Given the description of an element on the screen output the (x, y) to click on. 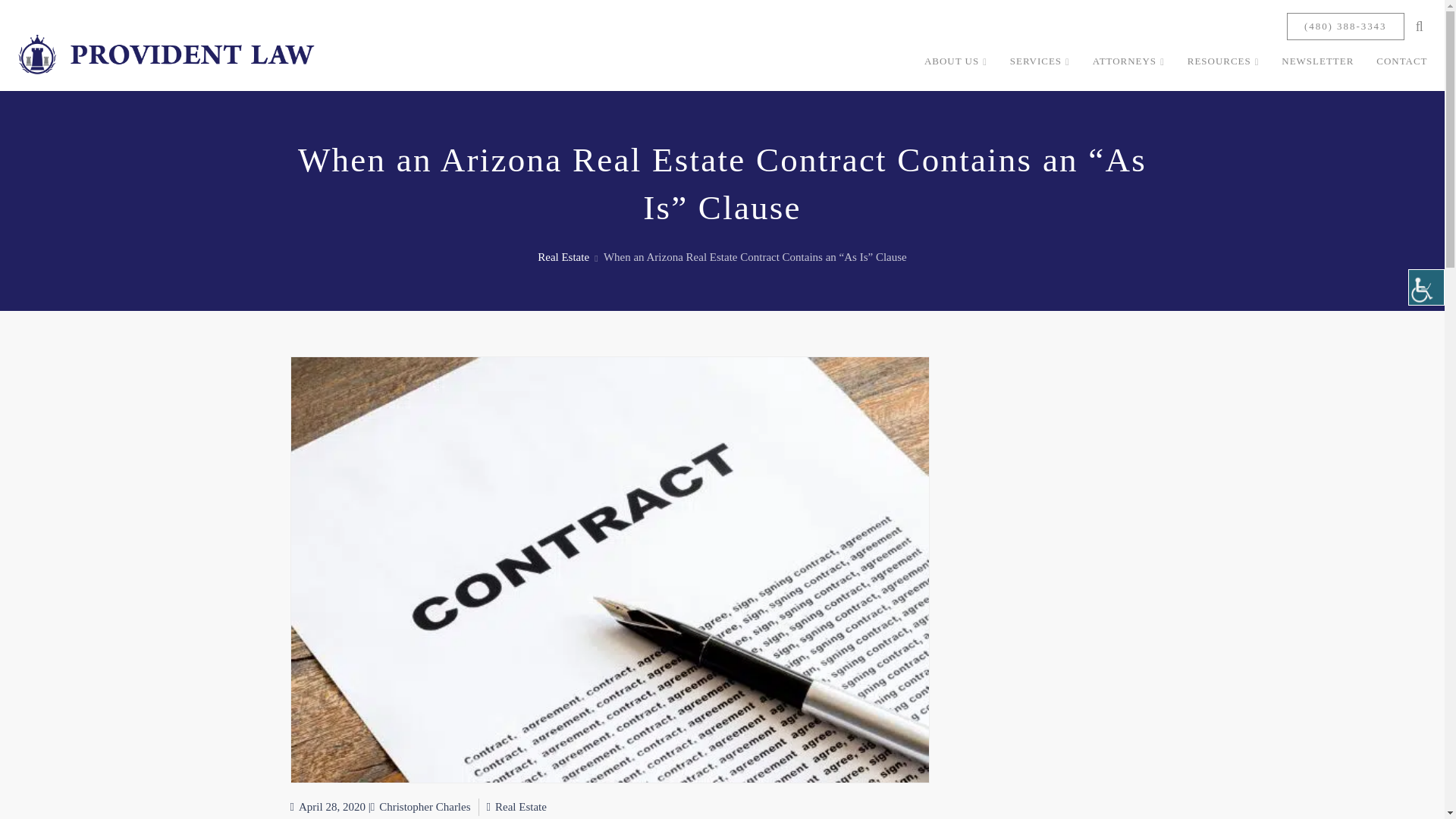
ABOUT US (955, 61)
SERVICES (1039, 61)
ATTORNEYS (1128, 61)
